Given the description of an element on the screen output the (x, y) to click on. 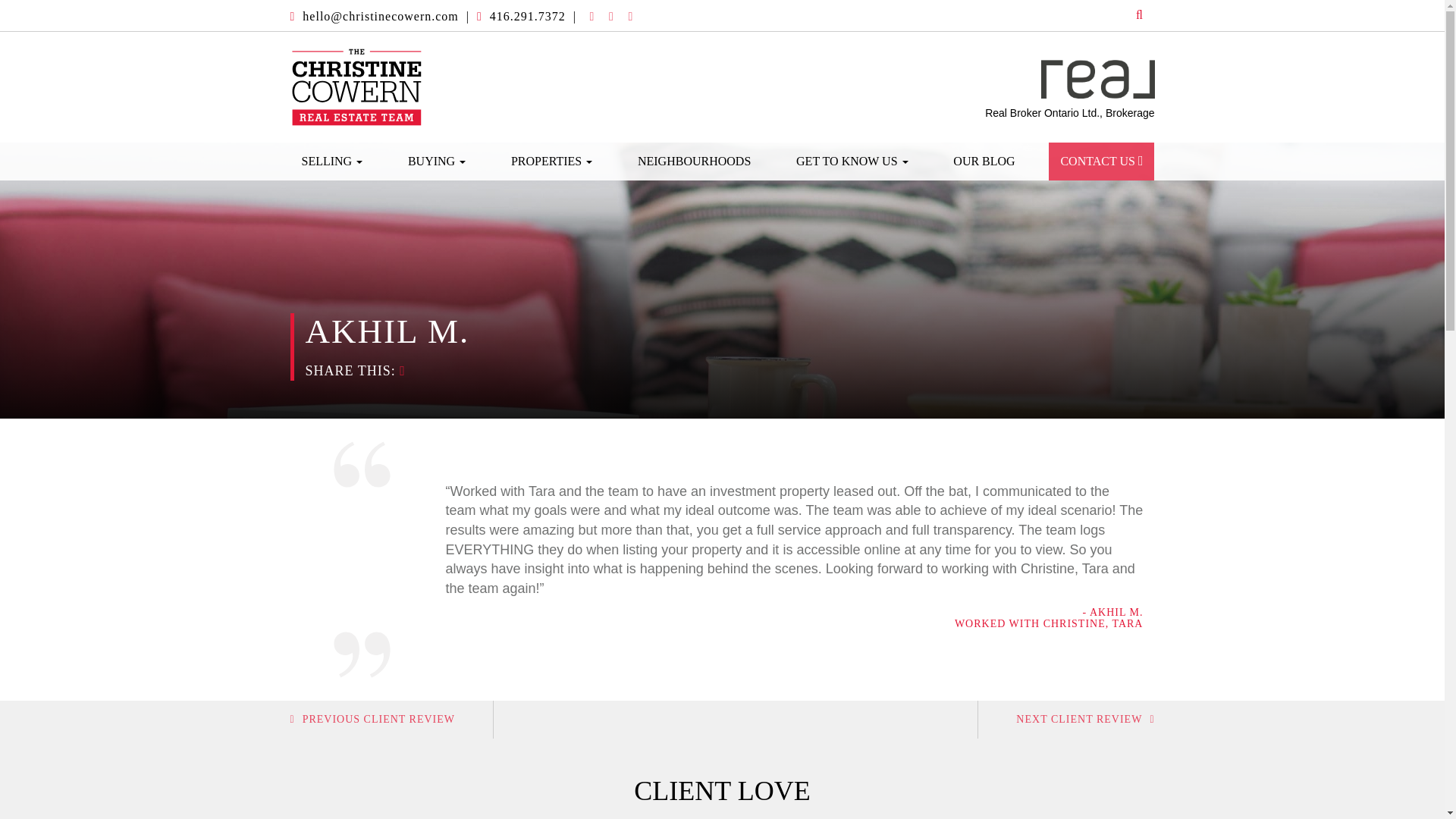
PROPERTIES (551, 161)
SELLING (331, 161)
CONTACT US (1101, 161)
GET TO KNOW US (852, 161)
NEIGHBOURHOODS (693, 161)
OUR BLOG (984, 161)
Search for: (1125, 15)
The Christine Cowern Team (355, 86)
416.291.7372 (527, 15)
BUYING (436, 161)
